Given the description of an element on the screen output the (x, y) to click on. 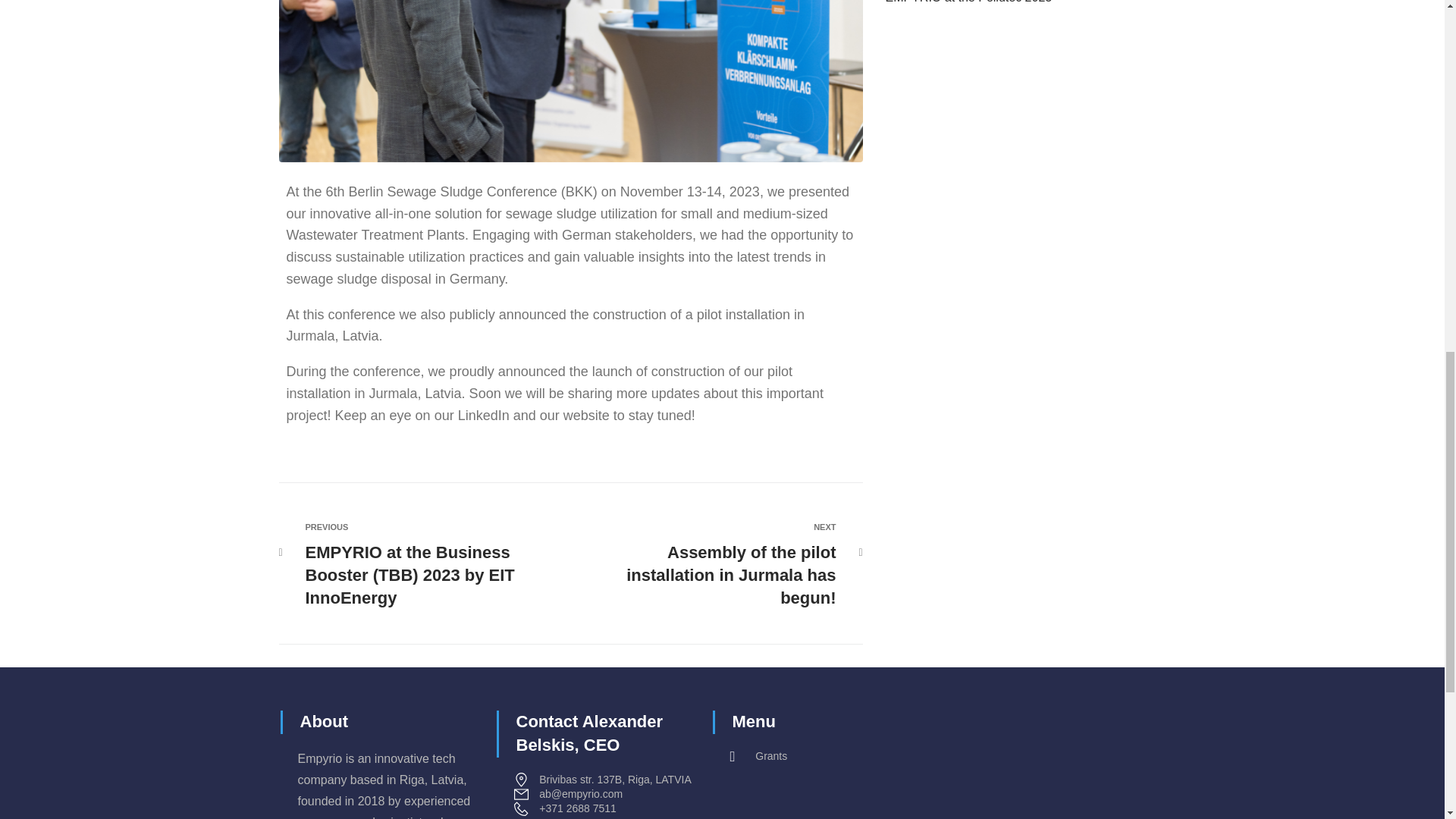
EMPYRIO at the Pollutec 2023 (968, 2)
our LinkedIn (471, 415)
Grants (829, 756)
